Given the description of an element on the screen output the (x, y) to click on. 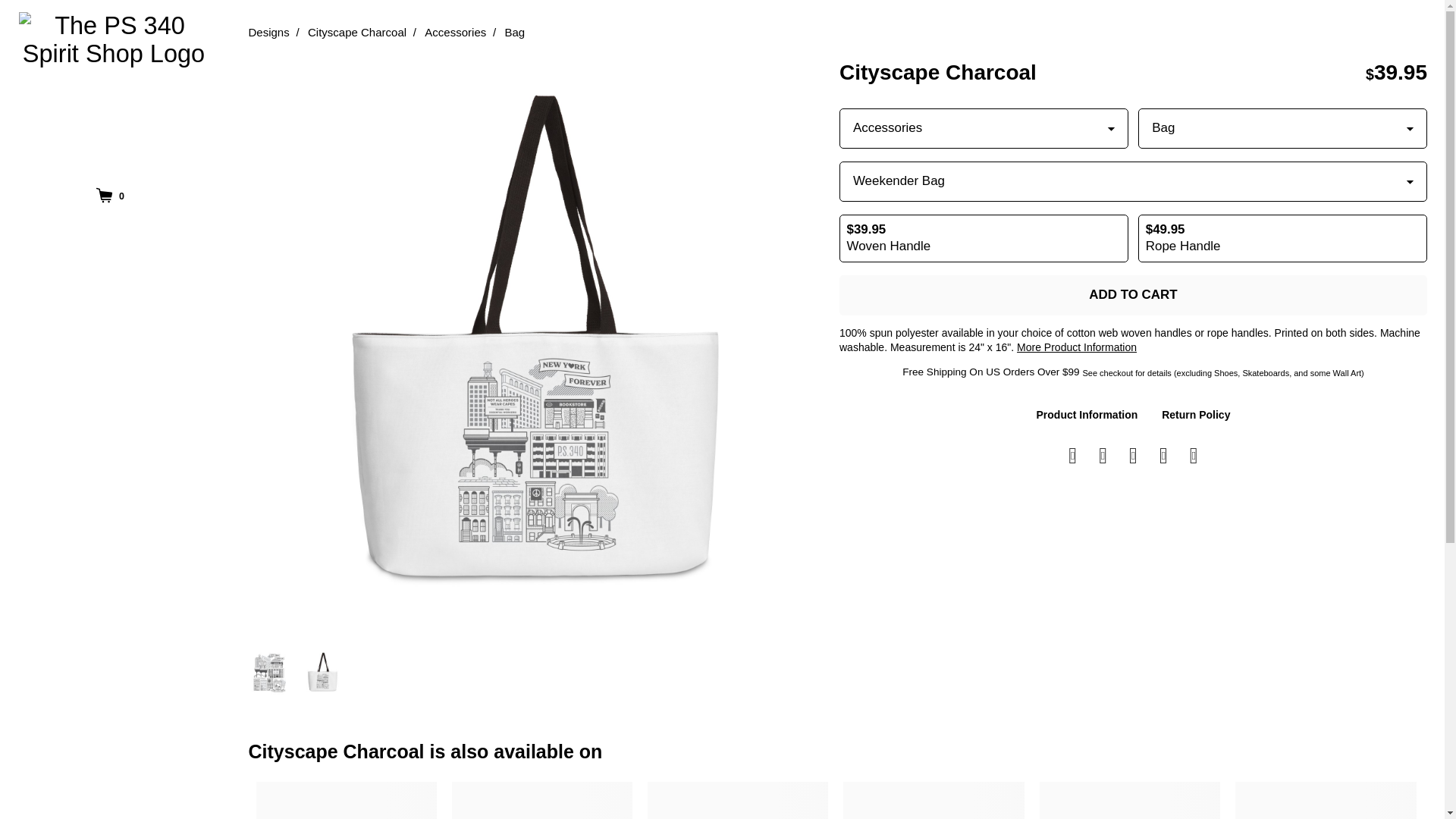
WOMEN'S (113, 284)
Product Information (1087, 414)
Shop Accessories (113, 421)
accessories (455, 31)
Cityscape Charcoal (356, 31)
Cart (108, 194)
ACCESSORIES (113, 421)
HOME (113, 375)
SEARCH (113, 466)
Designs (268, 31)
Accessories (455, 31)
Shop Men's (113, 239)
More Product Information (1076, 347)
Return Policy (1195, 414)
0 (108, 194)
